Given the description of an element on the screen output the (x, y) to click on. 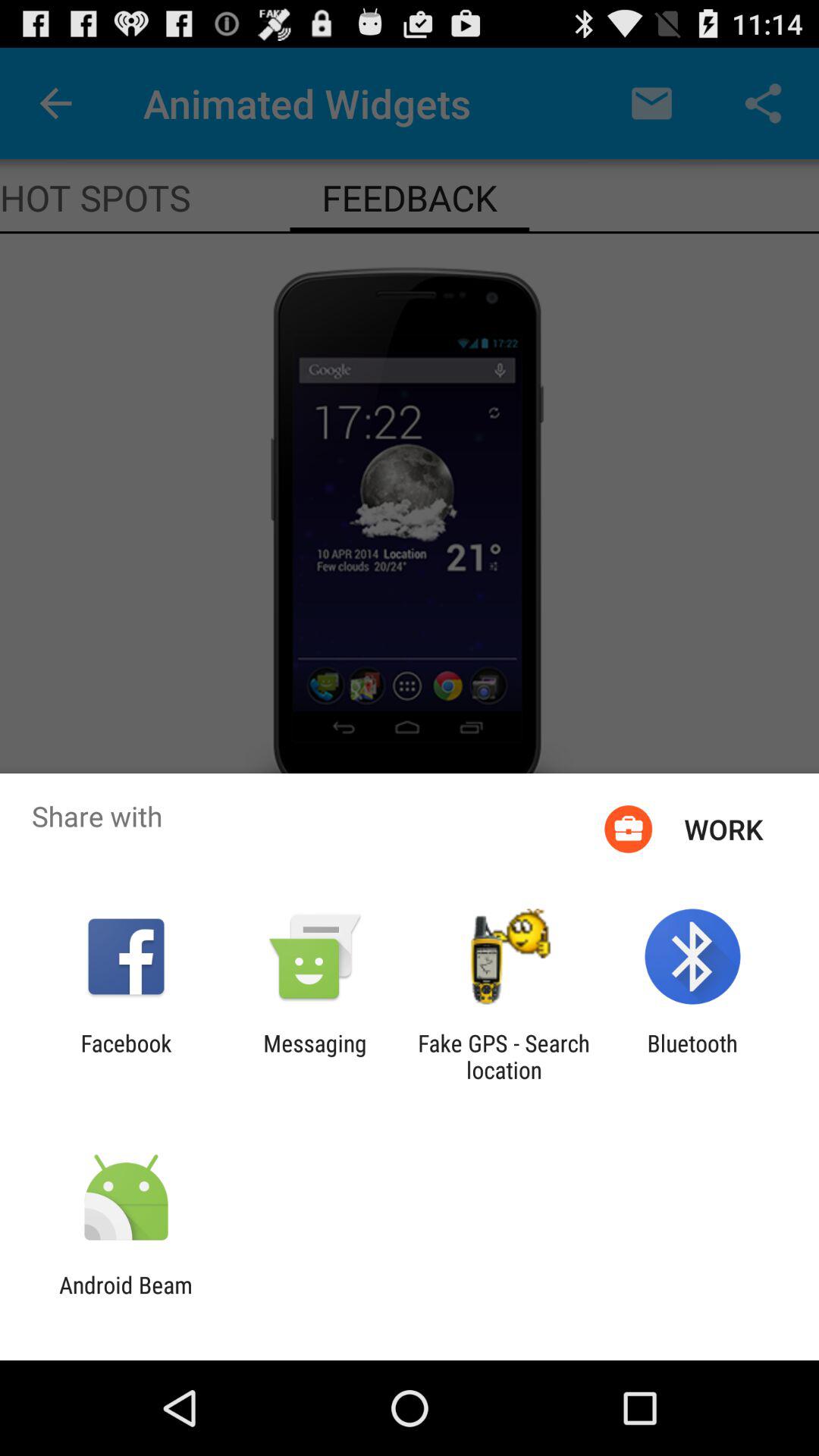
scroll until the bluetooth (692, 1056)
